Given the description of an element on the screen output the (x, y) to click on. 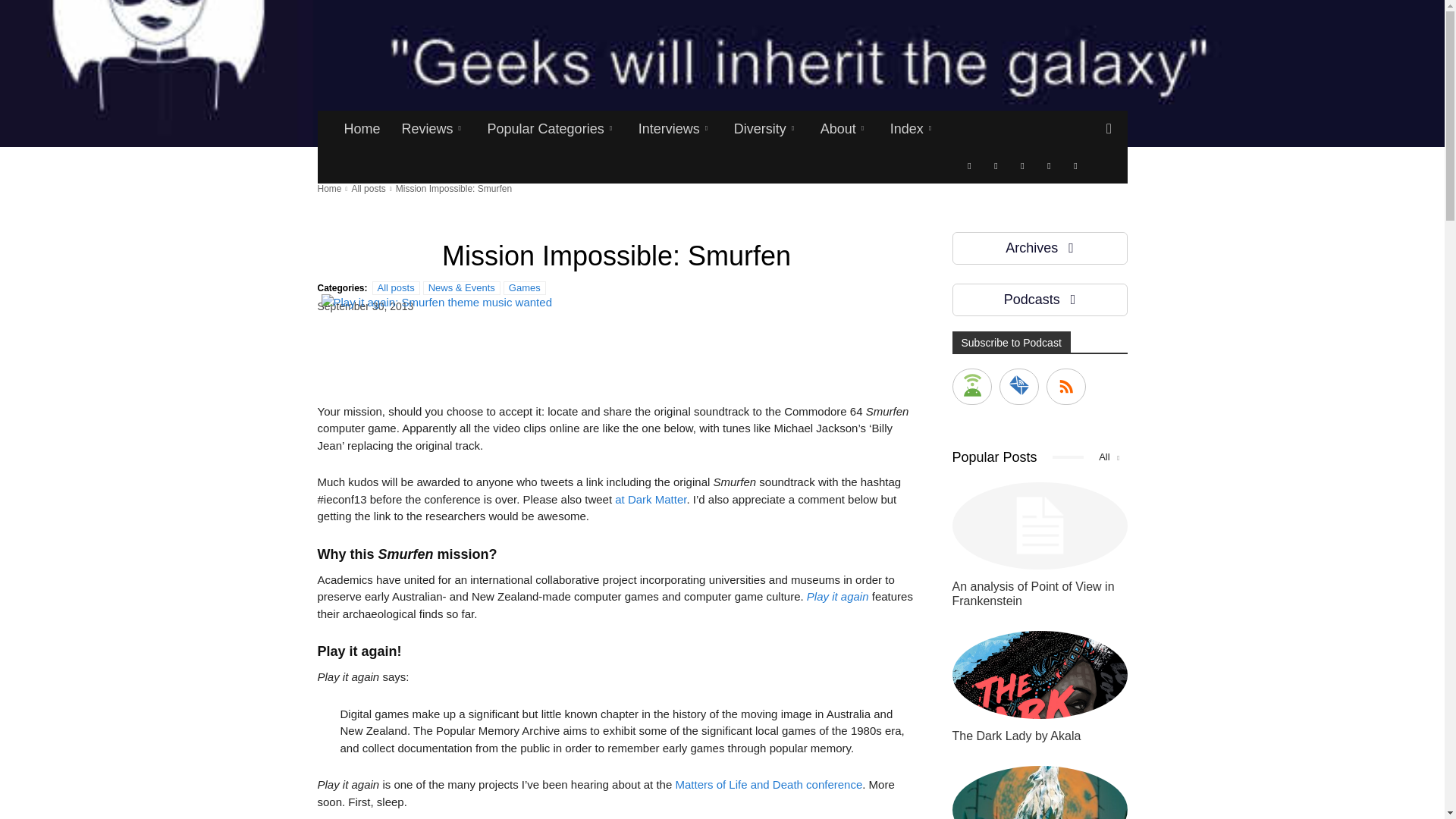
View all posts in All posts (367, 188)
Play it again project (837, 595)
Dark Matter twitter (649, 499)
